Given the description of an element on the screen output the (x, y) to click on. 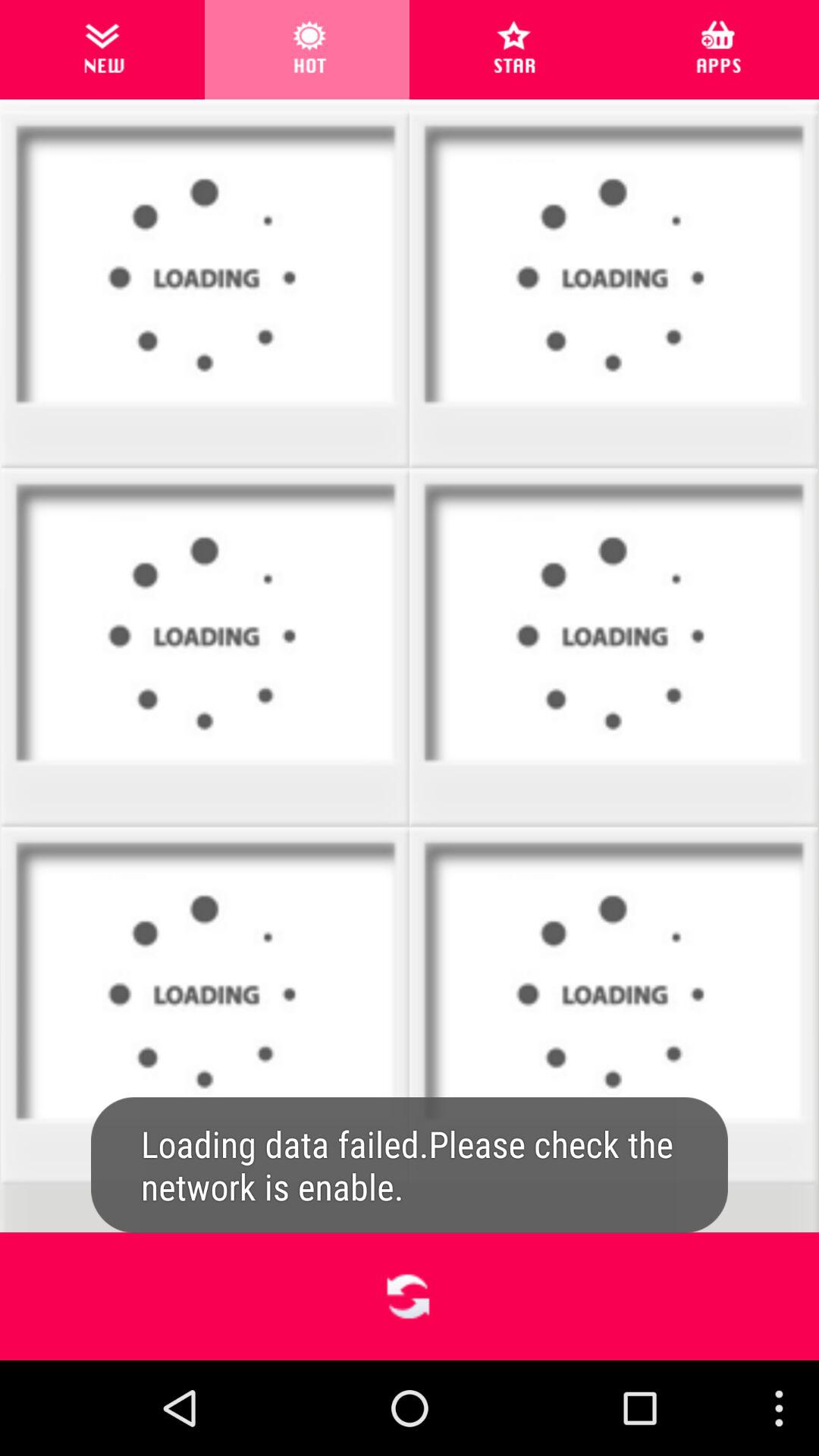
select the third image in the page (205, 632)
select the second image in the page (613, 289)
